Given the description of an element on the screen output the (x, y) to click on. 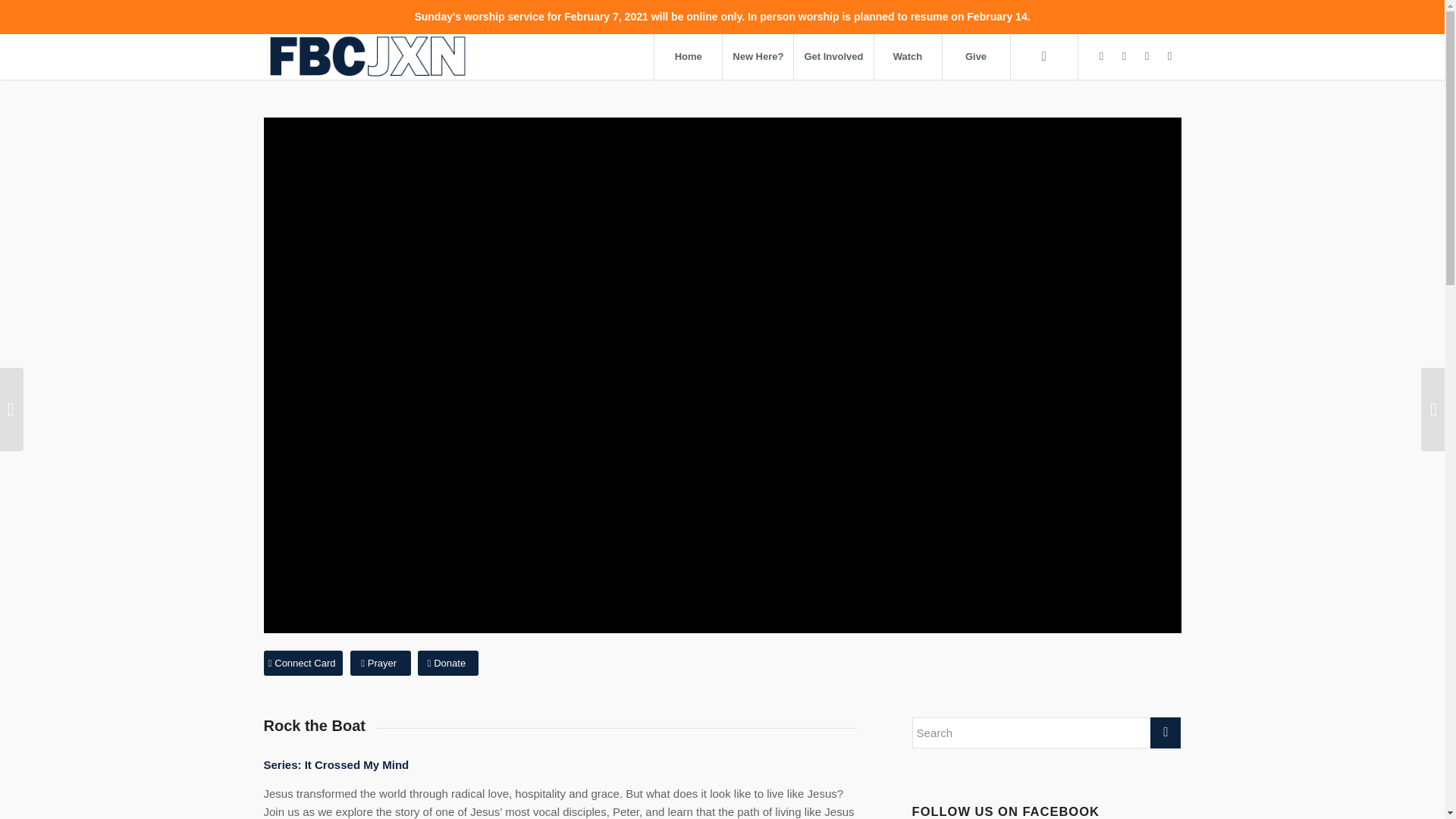
Youtube (1146, 56)
Give (976, 56)
New Here? (757, 56)
Donate (448, 662)
Prayer (380, 662)
Watch (907, 56)
Connect Card (303, 662)
Instagram (1124, 56)
Facebook (1101, 56)
Soundcloud (1169, 56)
Get Involved (832, 56)
Home (687, 56)
